Given the description of an element on the screen output the (x, y) to click on. 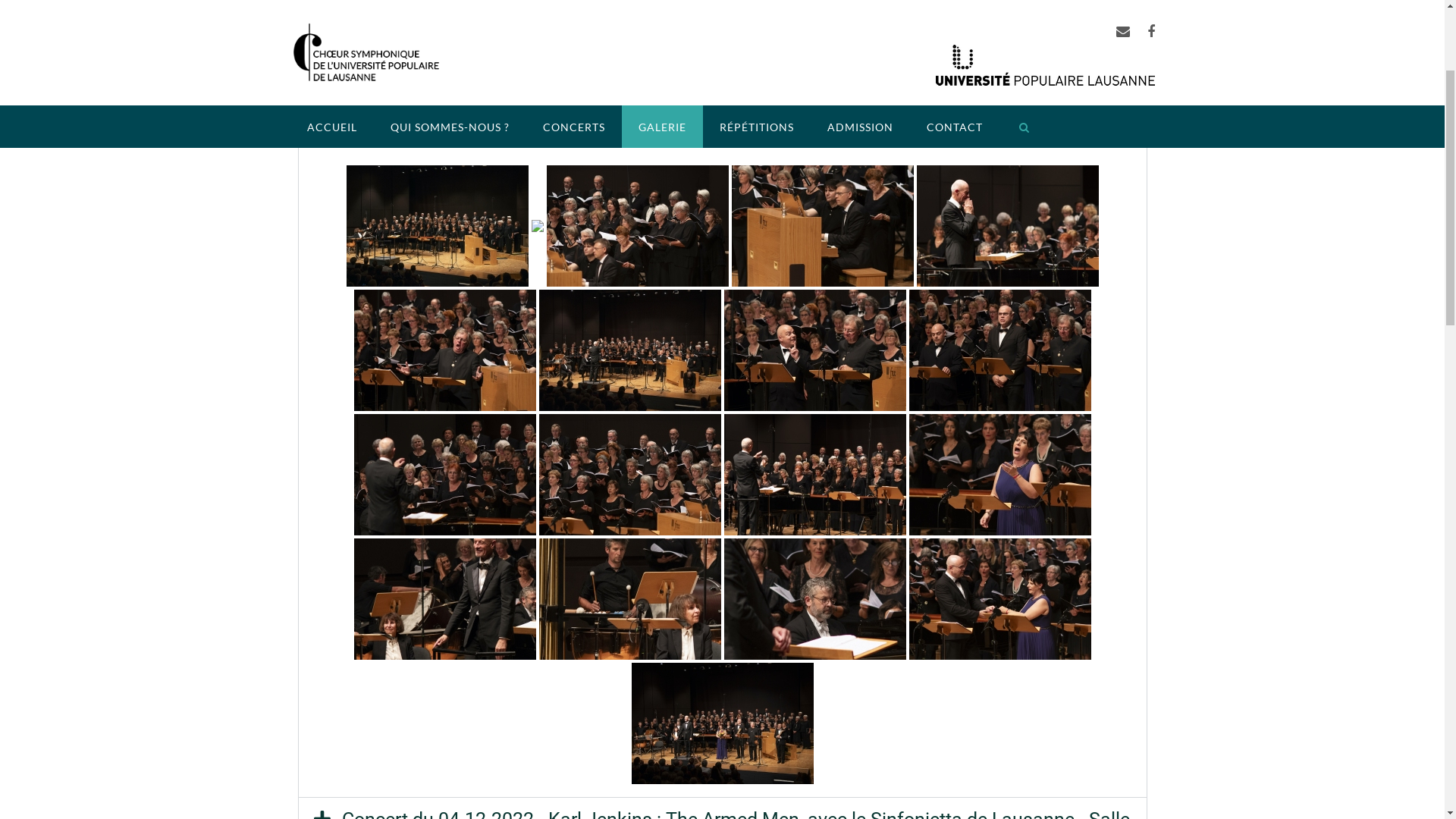
CONCERTS Element type: text (573, 317)
QUI SOMMES-NOUS ? Element type: text (449, 317)
Choeur_Symphonique_oct_2023_11 Element type: hover (629, 541)
logo_upl_nb Element type: hover (1044, 255)
Choeur_Symphonique_oct_2023_05 Element type: hover (637, 416)
Choeur_Symphonique_oct_2023_16 Element type: hover (444, 665)
Choeur_Symphonique_oct_2023_12 Element type: hover (814, 541)
Choeur_Symphonique_oct_2023_21 Element type: hover (814, 665)
Choeur_Symphonique_oct_2023_03 Element type: hover (536, 417)
ADMISSION Element type: text (859, 317)
Choeur_Symphonique_oct_2023_07 Element type: hover (1007, 416)
Choeur_Symphonique_oct_2023_06 Element type: hover (822, 416)
Choeur_Symphonique_oct_2023_22 Element type: hover (999, 665)
ACCUEIL Element type: text (331, 317)
Find us on Facebook Element type: hover (1150, 222)
affiche Element type: text (1036, 313)
Choeur_Symphonique_oct_2023_13 Element type: hover (999, 541)
GALERIE Element type: text (661, 317)
Send us an email Element type: hover (1122, 222)
Choeur_Symphonique_oct_2023_02 Element type: hover (436, 416)
Choeur_Symphonique_oct_2023_09 Element type: hover (444, 541)
CONTACT Element type: text (954, 317)
Choeur_Symphonique_oct_2023_20 Element type: hover (629, 665)
